Given the description of an element on the screen output the (x, y) to click on. 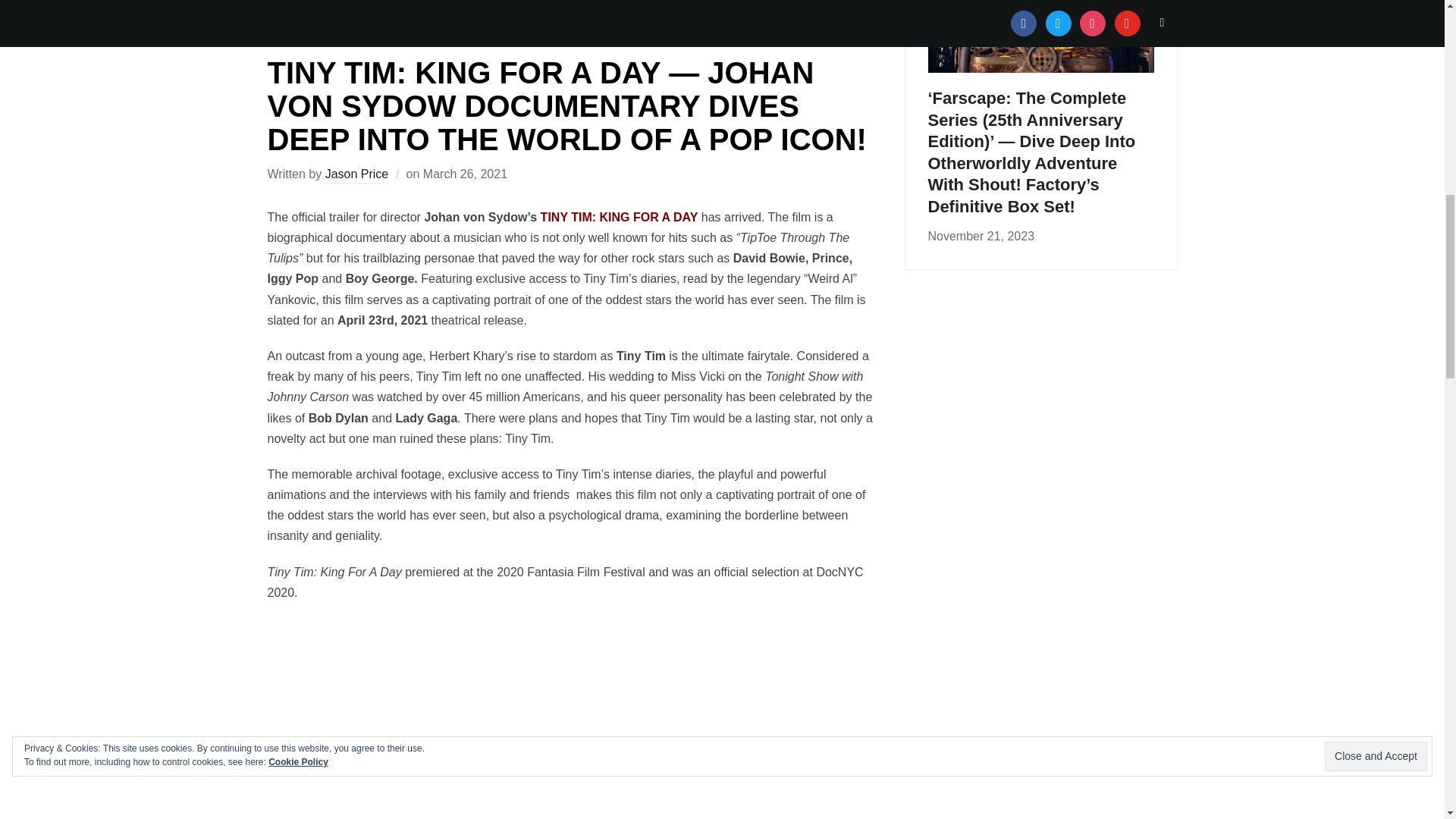
Jason Price (356, 175)
Posts by Jason Price (356, 175)
POP CULTURE NEWS (330, 30)
